Given the description of an element on the screen output the (x, y) to click on. 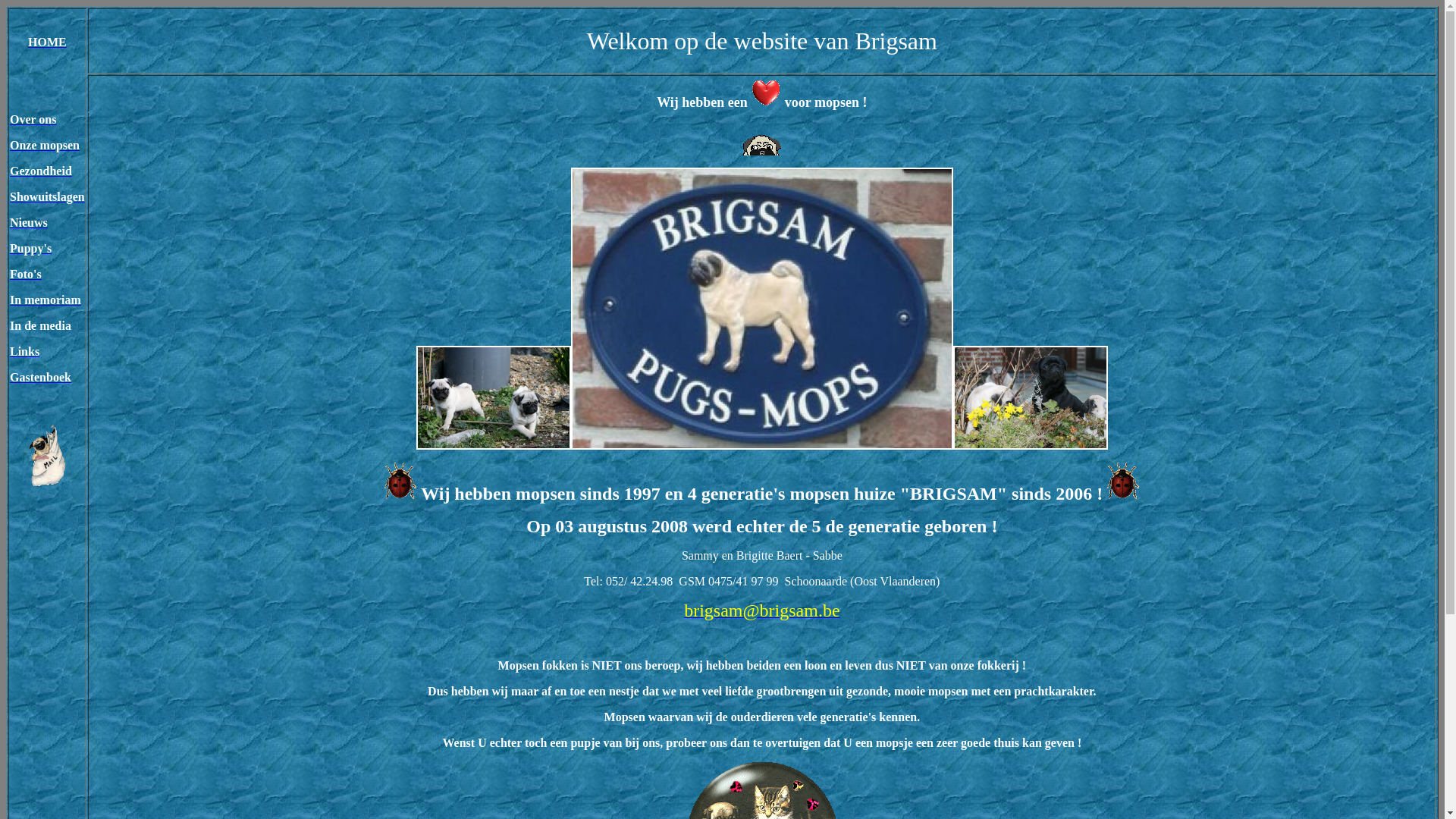
brigsam@brigsam.be Element type: text (761, 611)
Puppy's Element type: text (30, 247)
In de media Element type: text (40, 325)
Onze mopsen Element type: text (44, 144)
In memoriam Element type: text (45, 299)
Nieuws Element type: text (28, 222)
Foto's Element type: text (25, 273)
Gastenboek Element type: text (40, 376)
HOME Element type: text (47, 41)
Showuitslagen Element type: text (46, 196)
Over ons Element type: text (32, 118)
Gezondheid Element type: text (40, 170)
Links Element type: text (24, 351)
